Given the description of an element on the screen output the (x, y) to click on. 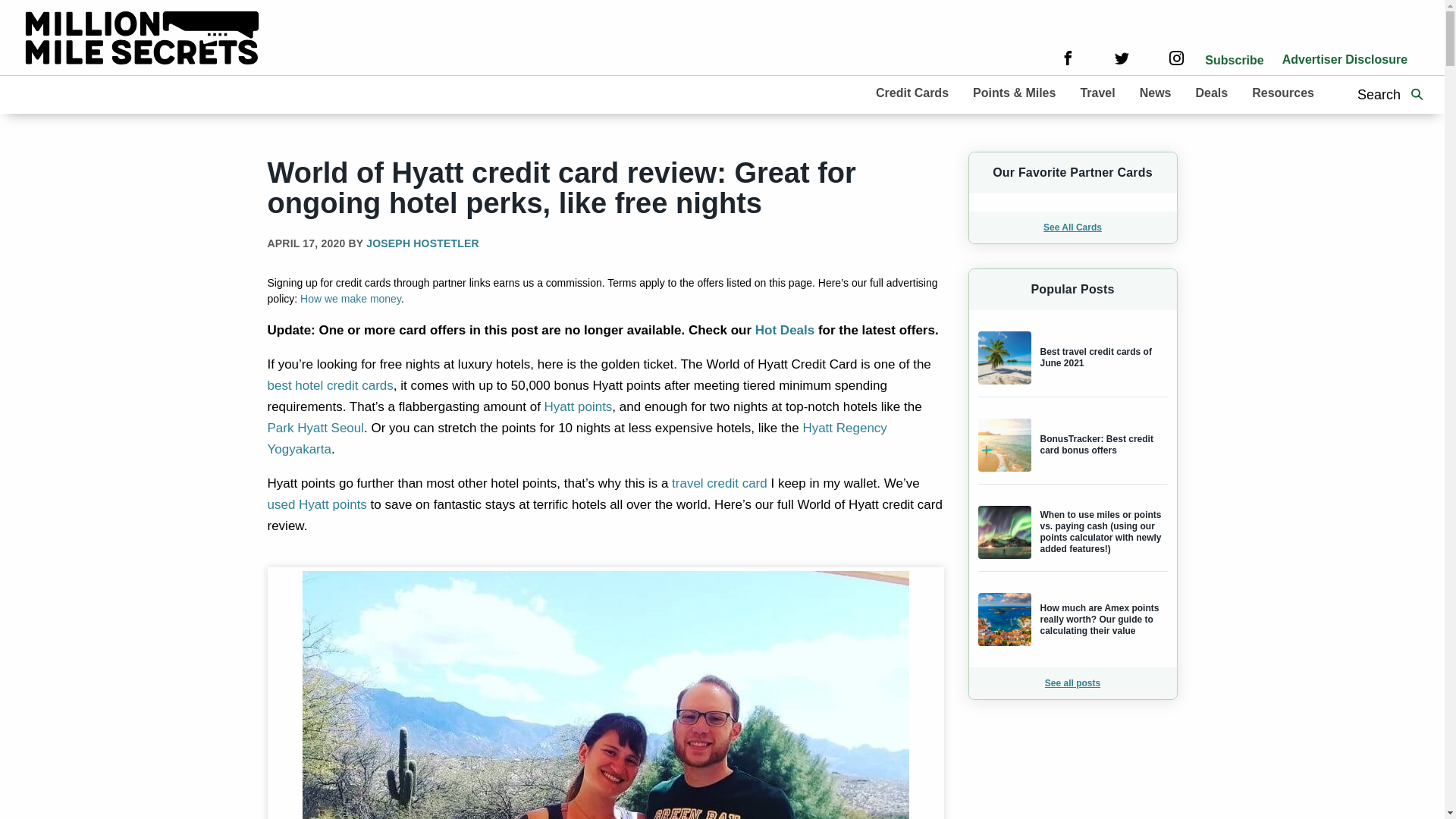
Deals (1211, 92)
Search (1417, 94)
Hot Deals (784, 329)
JOSEPH HOSTETLER (422, 243)
mms-logo-2 (142, 40)
Resources (1283, 92)
News (1154, 92)
Subscribe (1234, 60)
How we make money (350, 298)
best hotel credit cards (329, 385)
